Given the description of an element on the screen output the (x, y) to click on. 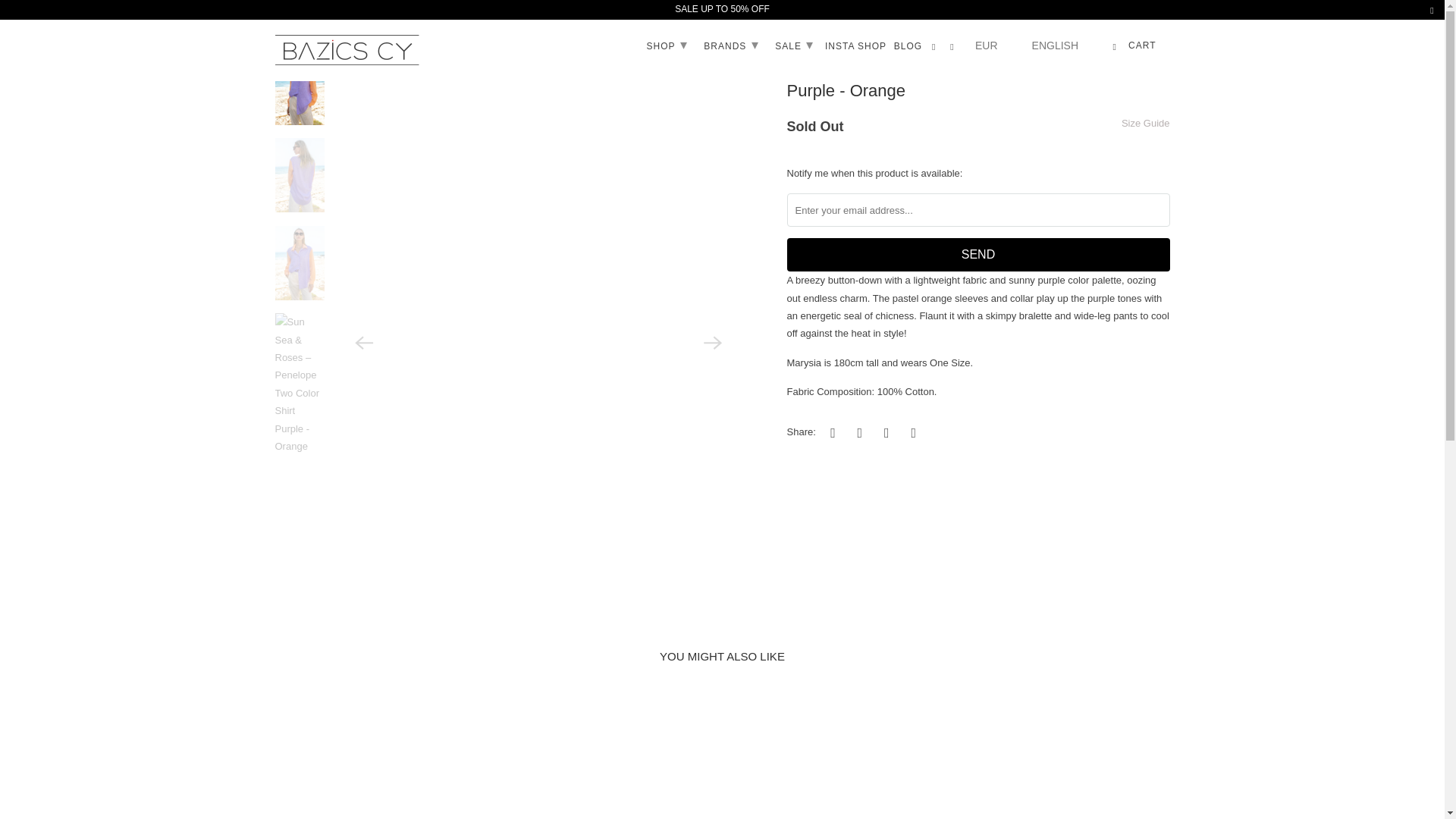
Share this on Facebook (857, 432)
Send (978, 254)
Email this to a friend (911, 432)
View All (333, 23)
Share this on Twitter (830, 432)
BAZICS CY (286, 23)
Share this on Pinterest (884, 432)
